Given the description of an element on the screen output the (x, y) to click on. 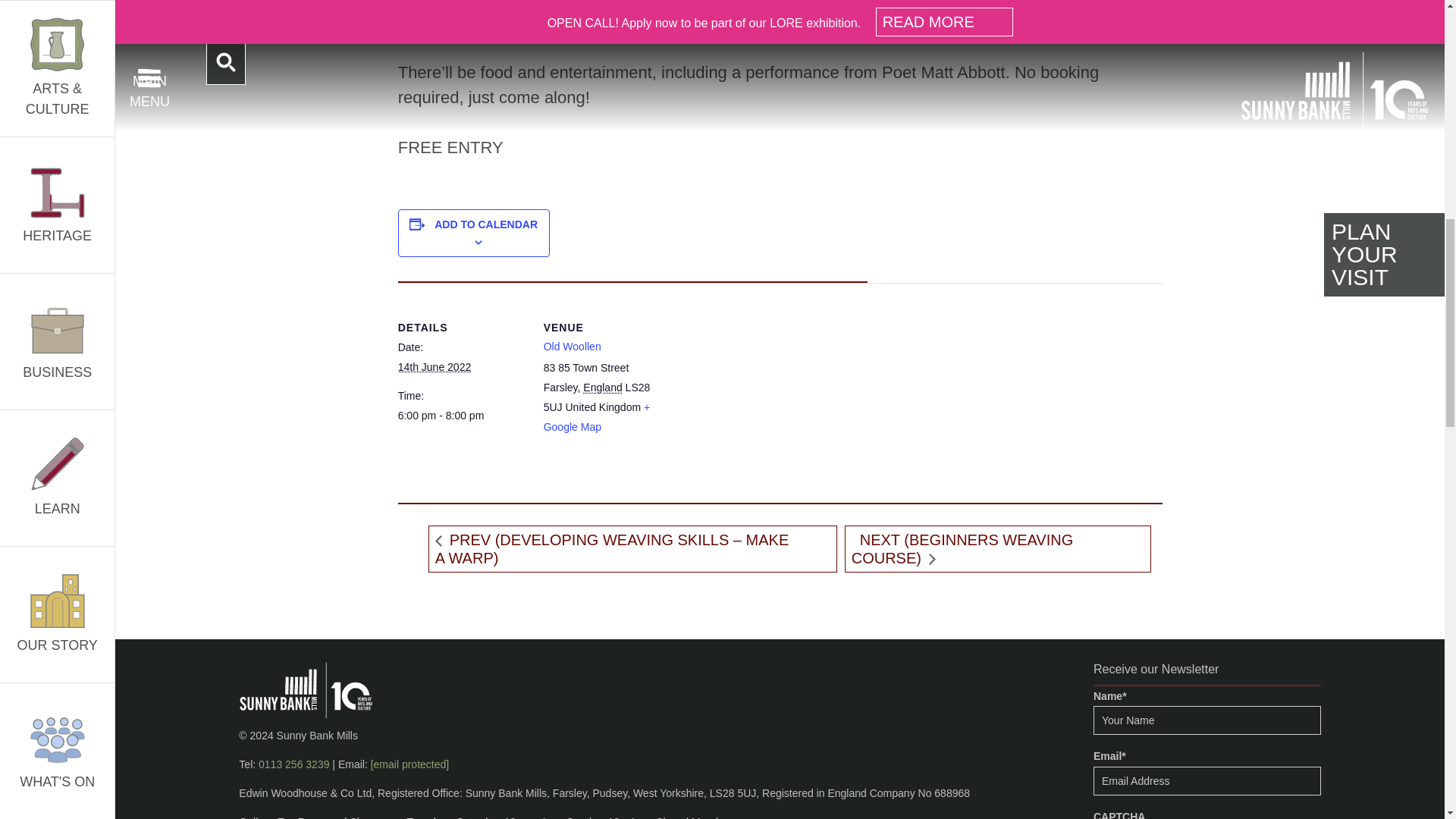
0113 256 3239 (294, 764)
England (602, 387)
Google maps iframe displaying the address to Old Woollen (768, 387)
Old Woollen (572, 346)
Click to view a Google Map (596, 417)
ADD TO CALENDAR (485, 224)
2022-06-14 (461, 415)
2022-06-14 (434, 367)
